Given the description of an element on the screen output the (x, y) to click on. 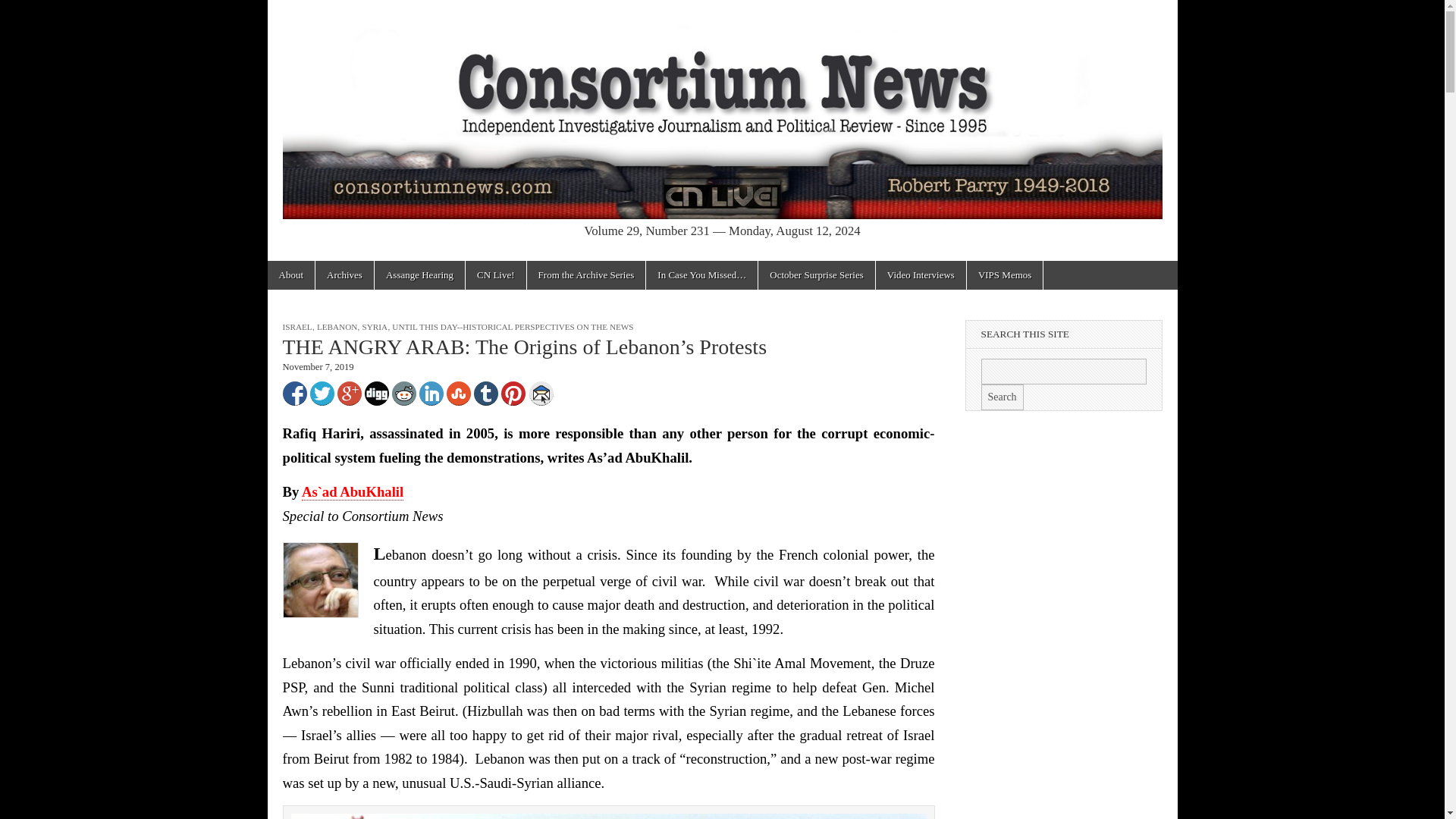
Share to Digg (376, 393)
Share to Google Plus (348, 393)
October Surprise Series (816, 275)
Share to Facebook (293, 393)
Share to Tumblr (485, 393)
Email this article (541, 393)
From the Archive Series (586, 275)
Search (1002, 397)
ISRAEL (296, 326)
